Given the description of an element on the screen output the (x, y) to click on. 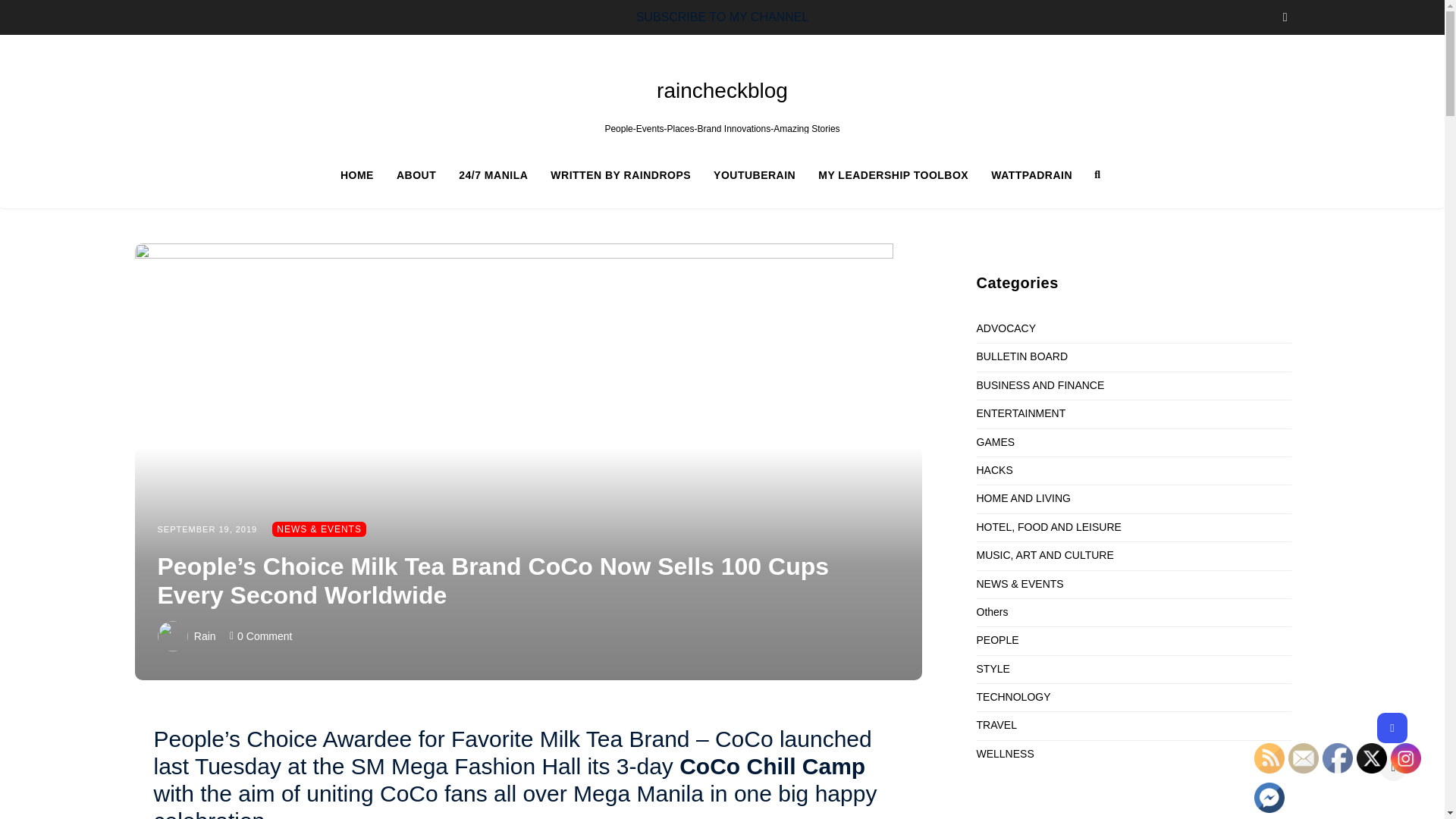
Scroll To Top (1393, 767)
HOME (368, 174)
SEPTEMBER 19, 2019 (207, 528)
ABOUT (427, 174)
raincheckblog (721, 90)
MY LEADERSHIP TOOLBOX (904, 174)
WRITTEN BY RAINDROPS (631, 174)
Rain (204, 635)
WATTPADRAIN (1031, 174)
0 Comment (264, 635)
YOUTUBERAIN (765, 174)
Posts by rain (204, 635)
SUBSCRIBE TO MY CHANNEL (722, 16)
